Given the description of an element on the screen output the (x, y) to click on. 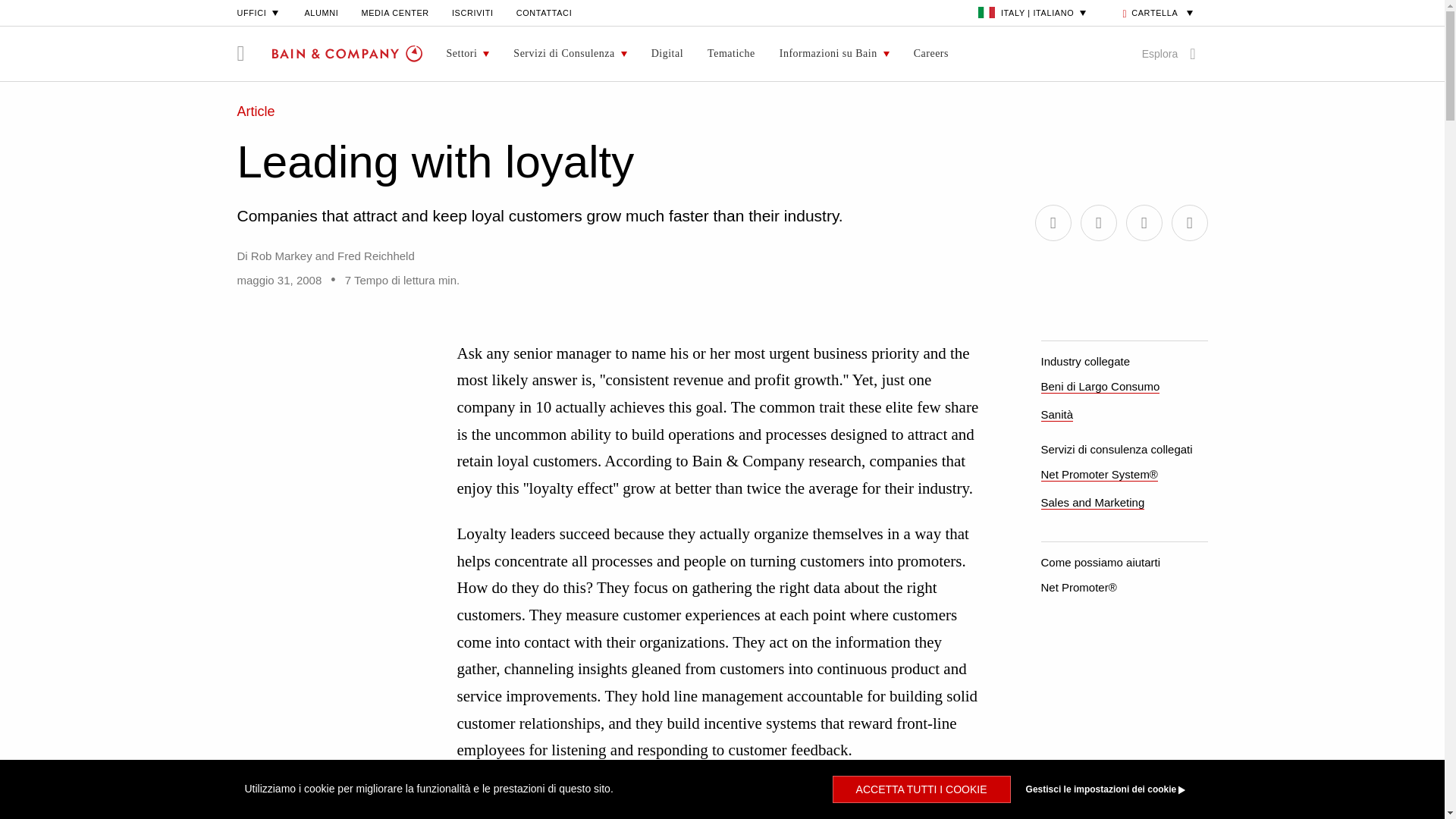
UFFICI (258, 12)
Gestisci le impostazioni dei cookie (1108, 789)
ACCETTA TUTTI I COOKIE (921, 789)
